Given the description of an element on the screen output the (x, y) to click on. 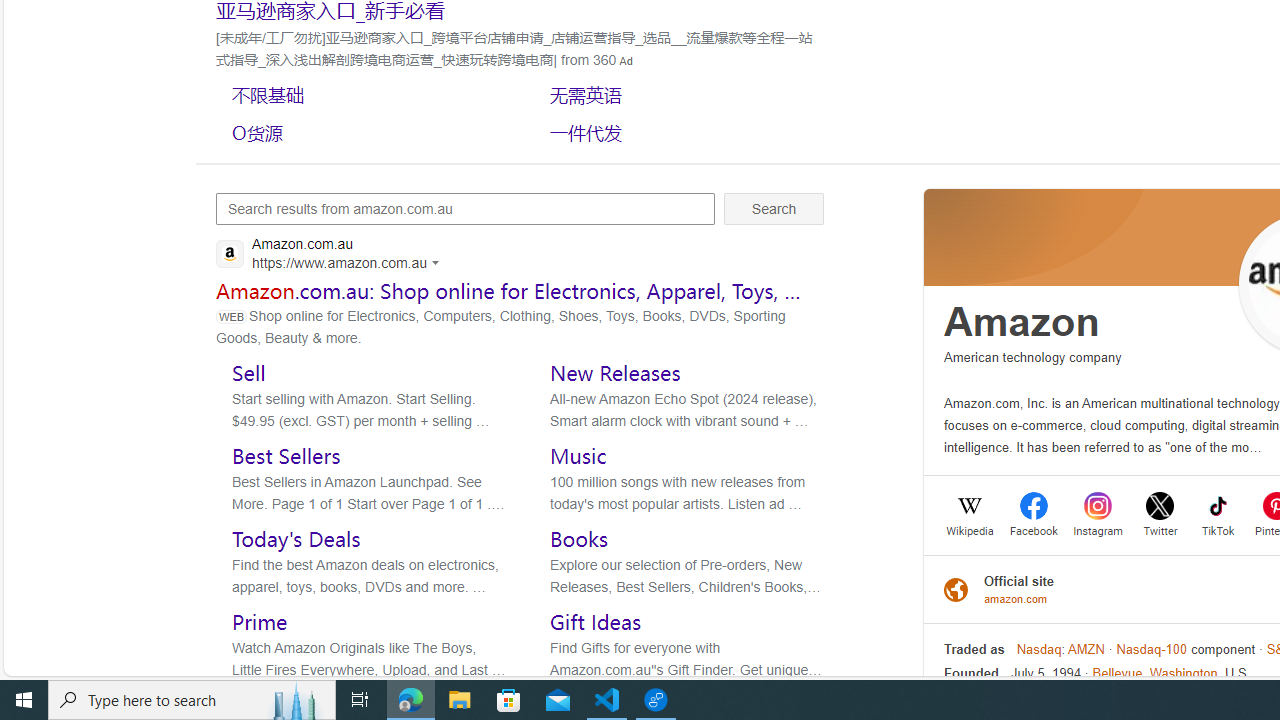
Sell (248, 372)
Best Sellers (285, 455)
SERP,5571 (683, 132)
Global web icon (229, 254)
Search results from amazon.com.au (465, 208)
Facebook (1033, 529)
Nasdaq-100 (1151, 649)
Traded as (974, 649)
Amazon (1021, 322)
SERP,5568 (365, 94)
